Given the description of an element on the screen output the (x, y) to click on. 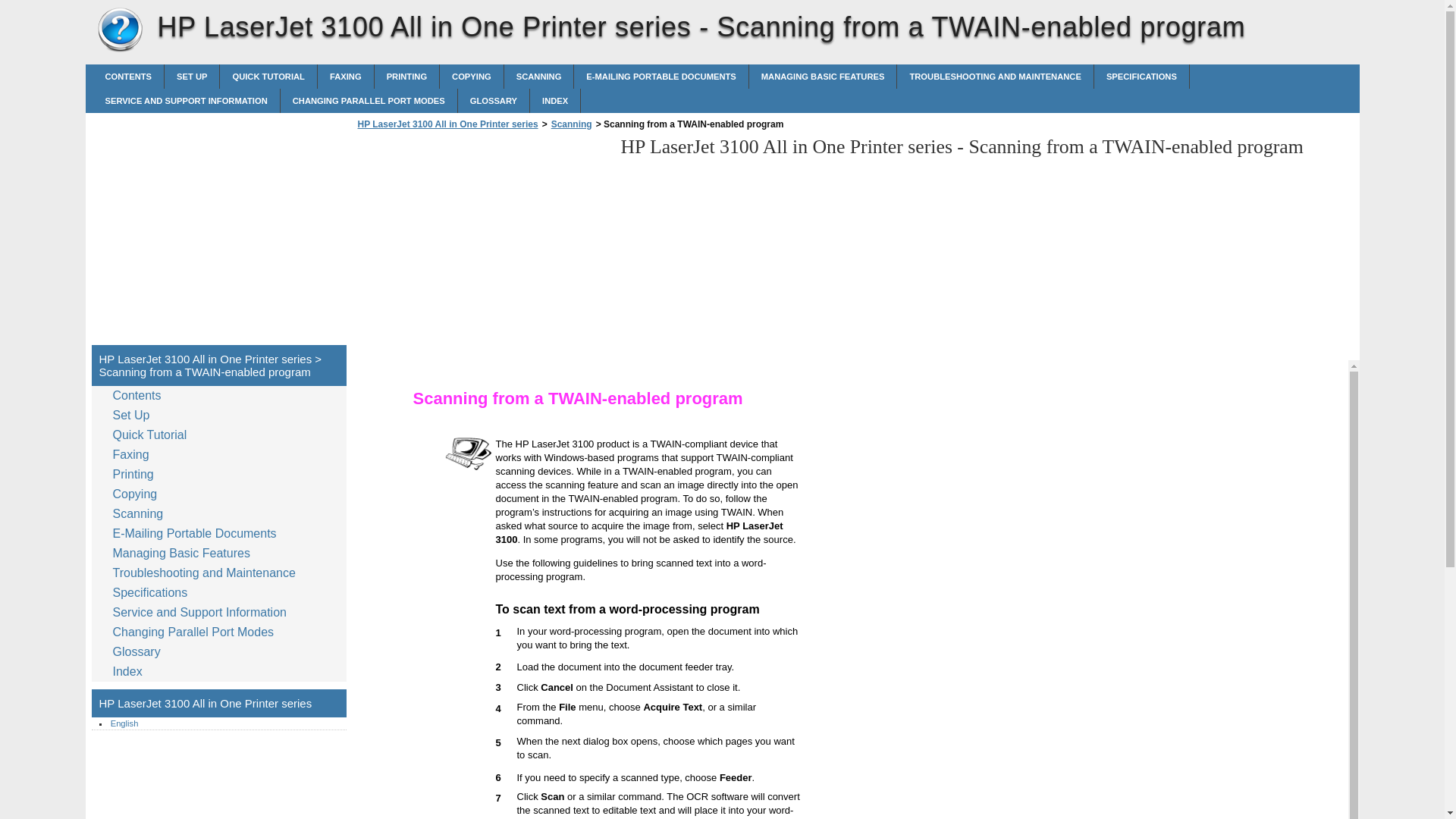
COPYING (471, 76)
Contents (128, 76)
SERVICE AND SUPPORT INFORMATION (186, 100)
Service and Support Information (186, 100)
Scanning (571, 124)
Glossary (493, 100)
Faxing (345, 76)
E-MAILING PORTABLE DOCUMENTS (660, 76)
Quick Tutorial (268, 76)
Printing (406, 76)
Scanning (538, 76)
MANAGING BASIC FEATURES (822, 76)
CHANGING PARALLEL PORT MODES (369, 100)
Contents (140, 395)
Specifications (1141, 76)
